Given the description of an element on the screen output the (x, y) to click on. 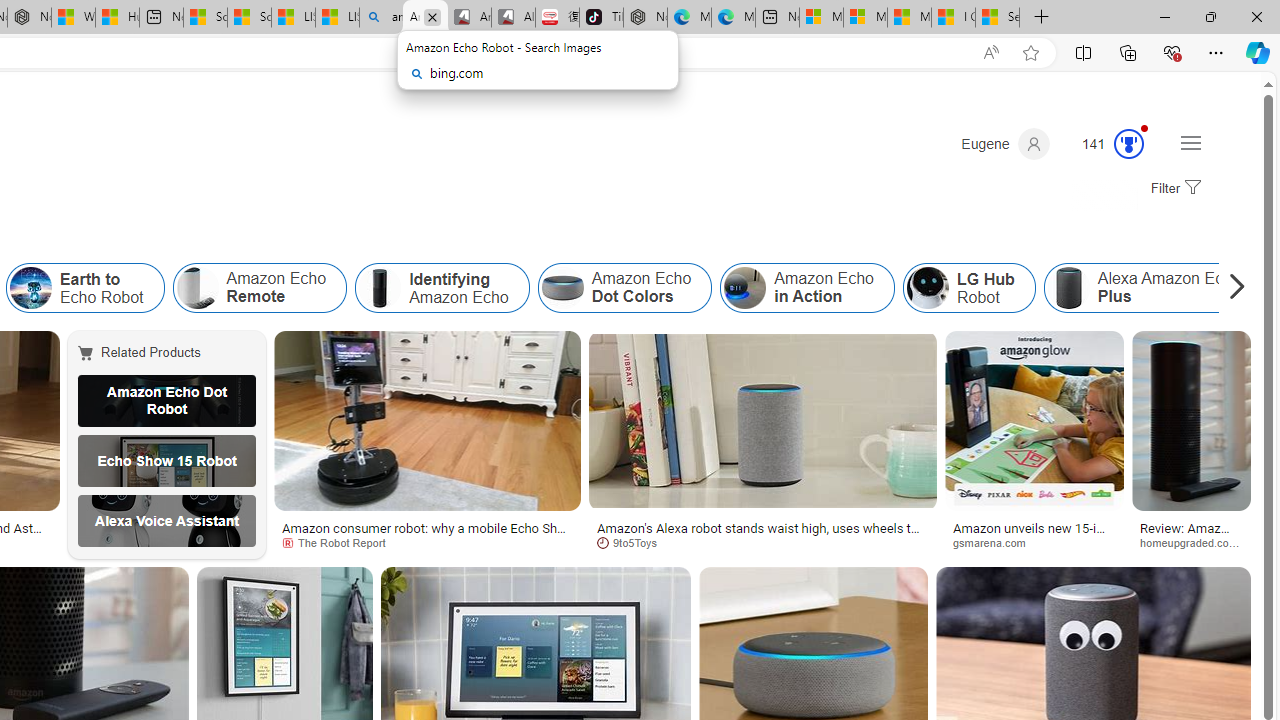
Image result for Amazon Echo Robot (1190, 421)
Identifying Amazon Echo (379, 287)
amazon - Search (381, 17)
Amazon Echo in Action (745, 287)
The Robot Report (340, 541)
Amazon Echo Remote (259, 287)
Image result for Amazon Echo Robot (1190, 421)
LG Hub Robot (927, 287)
The Robot Report (427, 542)
Echo Show 15 Robot (167, 460)
Amazon Echo Dot Robot (167, 400)
LG Hub Robot (968, 287)
Amazon Echo Robot - Search Images (425, 17)
